Given the description of an element on the screen output the (x, y) to click on. 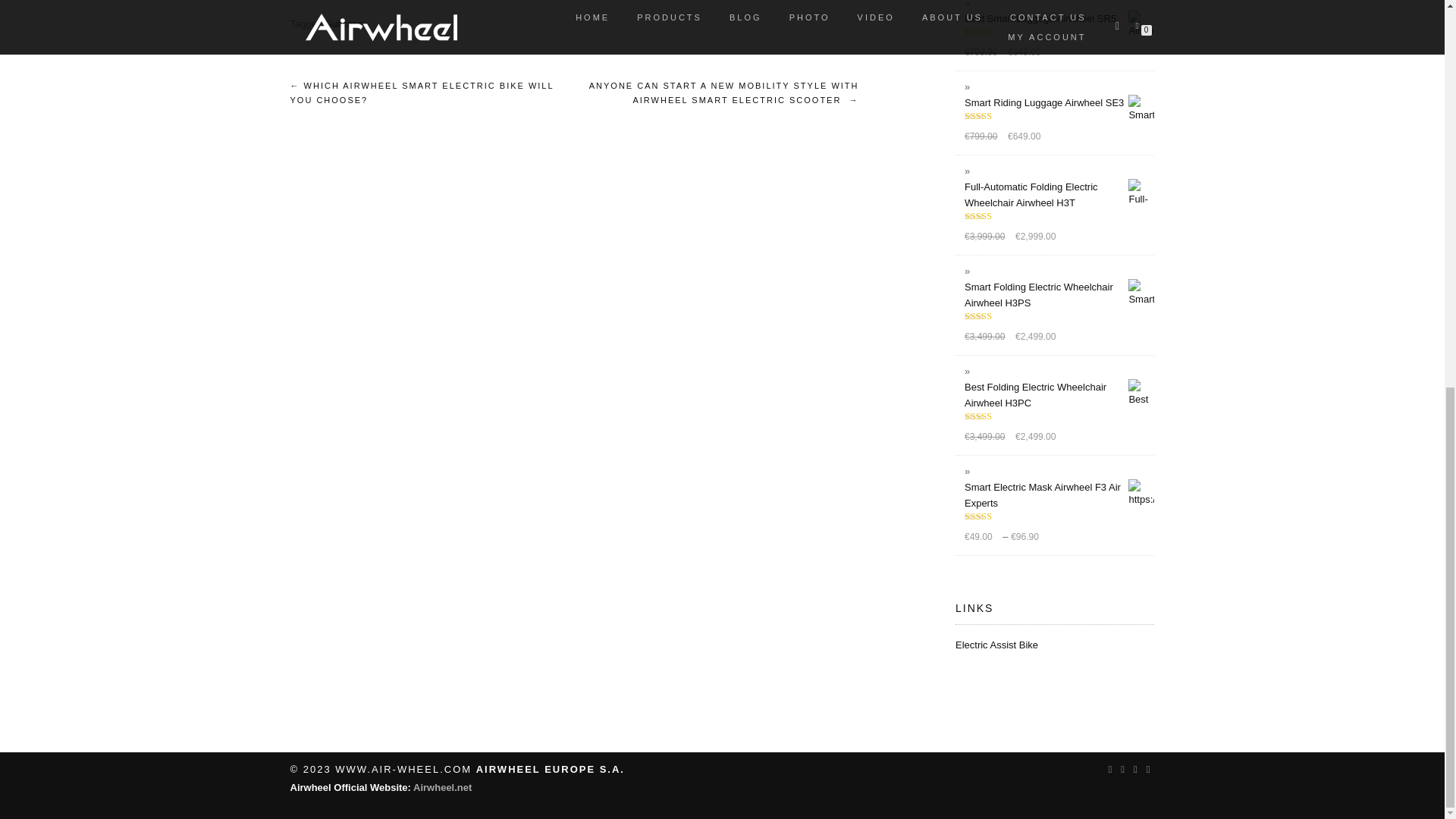
Airwheel (442, 787)
Smart Electric Mask Airwheel F3 Air Experts (1058, 495)
Best Smart Luggage Airwheel SR5 (1058, 18)
Electric Assist Bike (996, 644)
Full-Automatic Folding Electric Wheelchair Airwheel H3T (1058, 194)
Electric Assist Bike (996, 644)
Airwheel.net (442, 787)
Smart Folding Electric Wheelchair Airwheel H3PS (1058, 295)
Suitcase (343, 23)
Smart Riding Luggage Airwheel SE3 (1058, 102)
Best Folding Electric Wheelchair Airwheel H3PC (1058, 395)
